Given the description of an element on the screen output the (x, y) to click on. 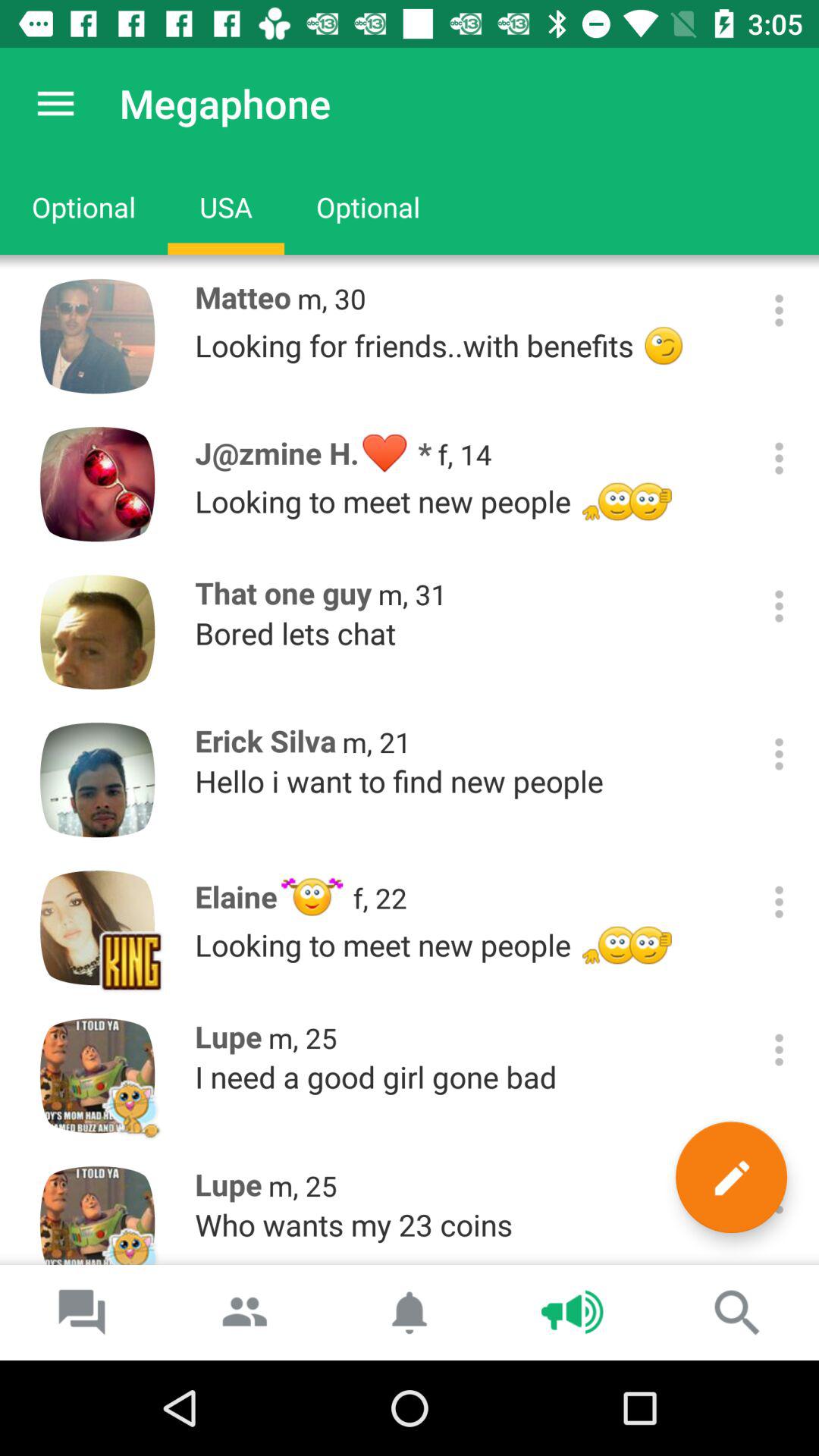
marker (731, 1177)
